Given the description of an element on the screen output the (x, y) to click on. 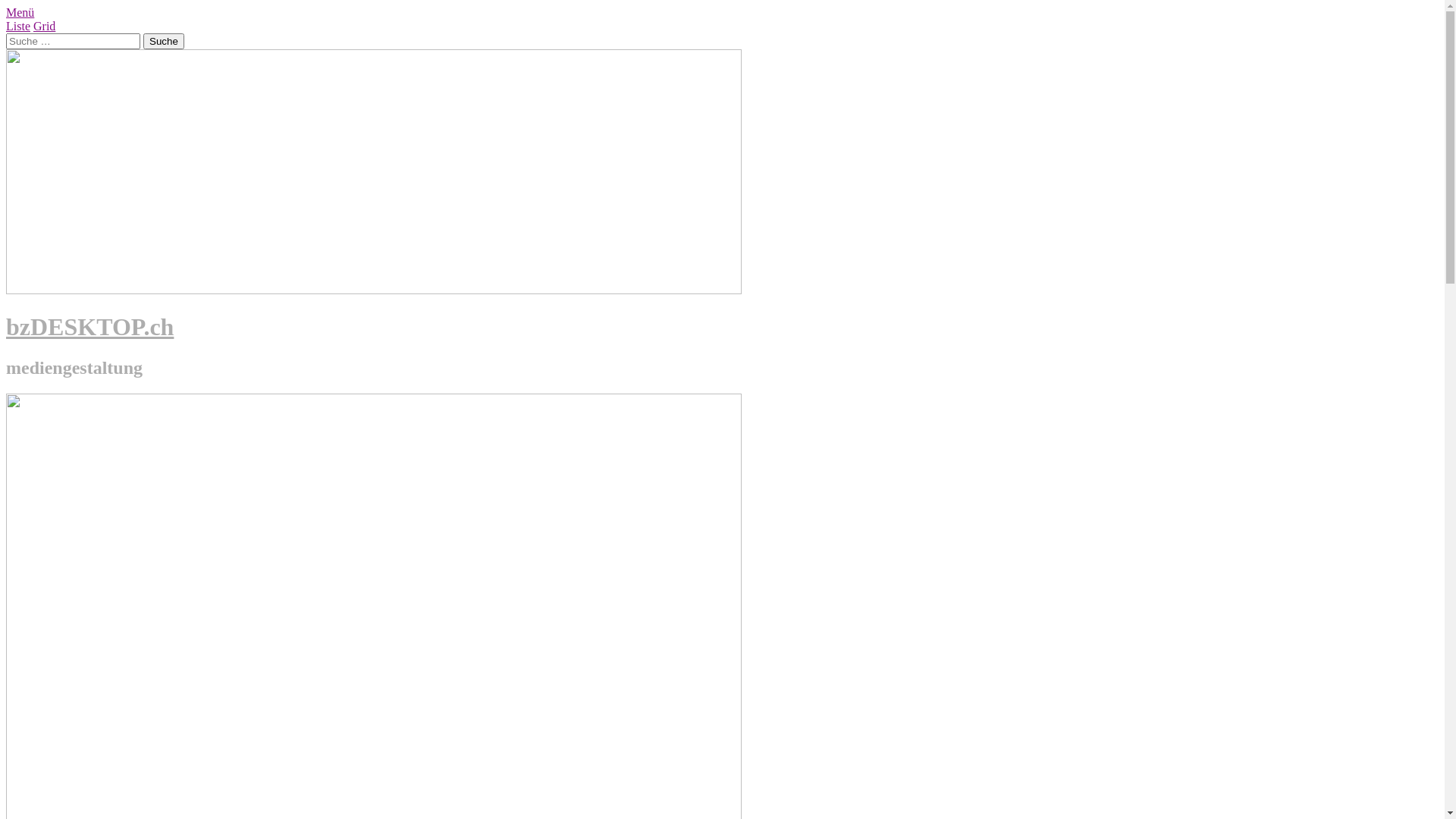
Suche Element type: text (163, 41)
Liste Element type: text (18, 25)
Grid Element type: text (44, 25)
bzDESKTOP.ch Element type: text (89, 326)
